Given the description of an element on the screen output the (x, y) to click on. 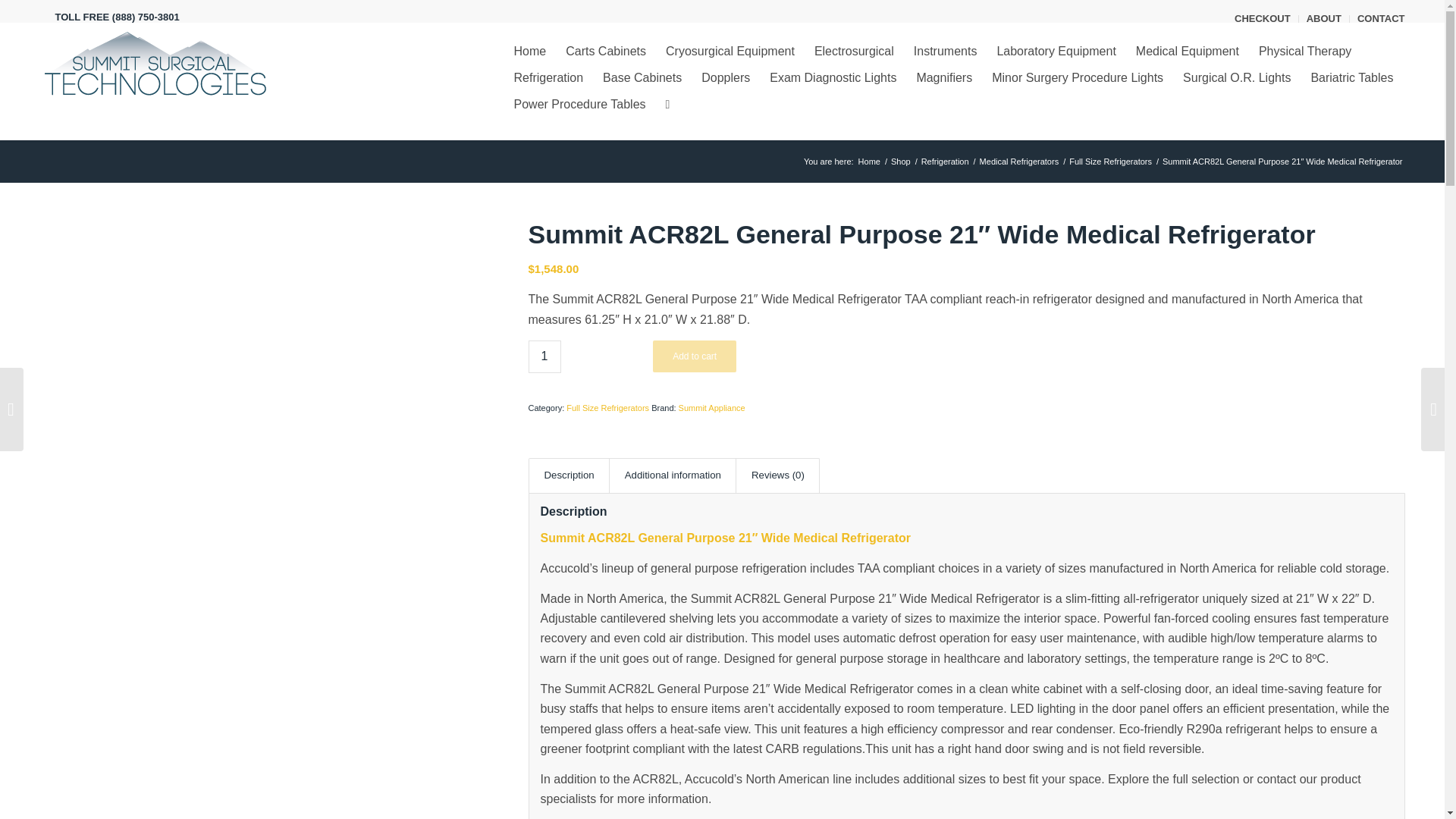
ABOUT (1323, 18)
sst-logo-new (152, 64)
Refrigeration (944, 161)
1 (543, 356)
CONTACT (1380, 18)
Home (529, 50)
CHECKOUT (1262, 18)
Medical Refrigerators (1018, 161)
Summit Surgical Technologies (869, 161)
Carts Cabinets (606, 50)
